Given the description of an element on the screen output the (x, y) to click on. 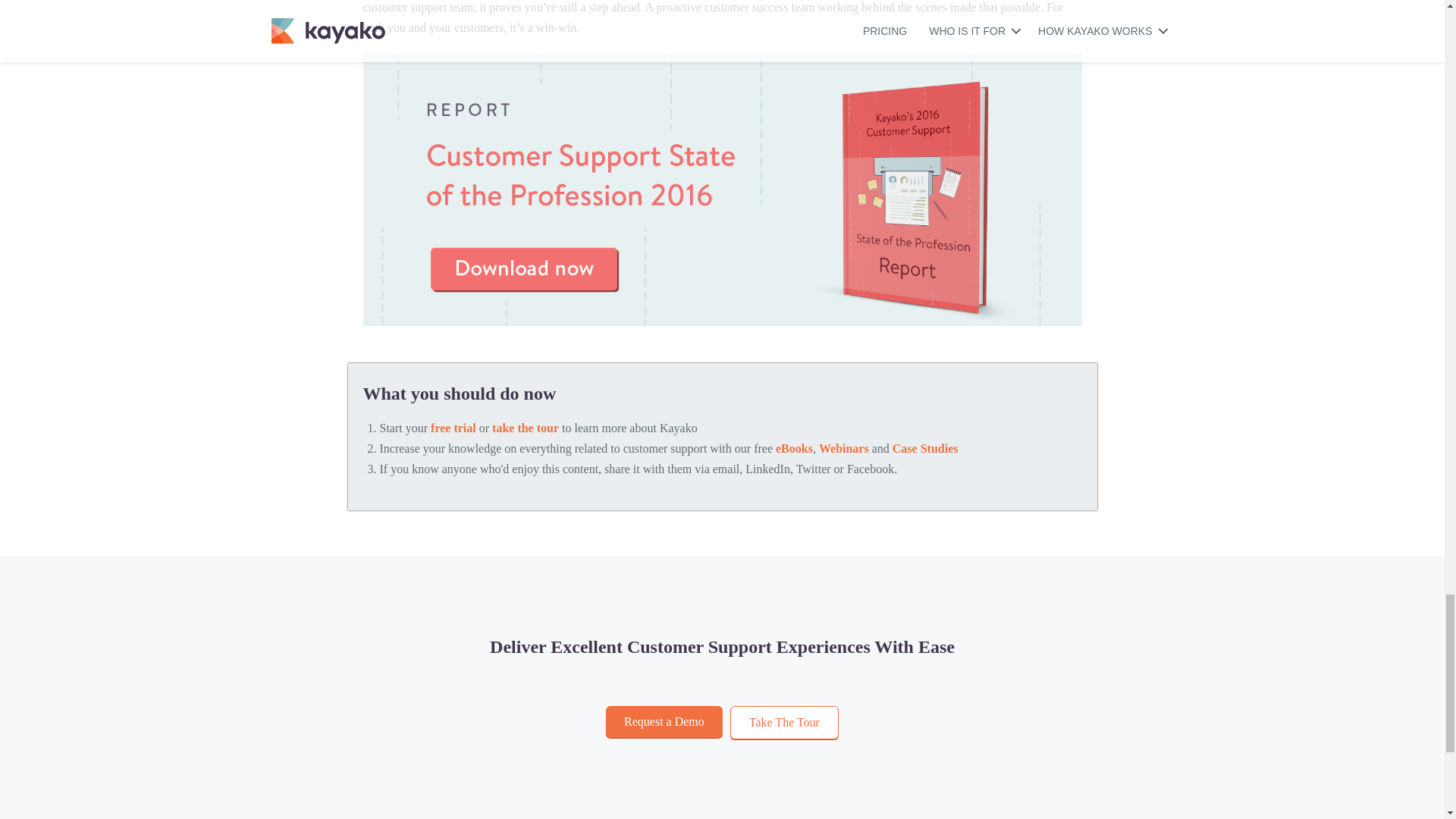
Case Studies (925, 448)
Webinars (843, 448)
free trial (453, 427)
take the tour (525, 427)
Take The Tour (784, 722)
eBooks (794, 448)
Request a Demo (663, 721)
